Given the description of an element on the screen output the (x, y) to click on. 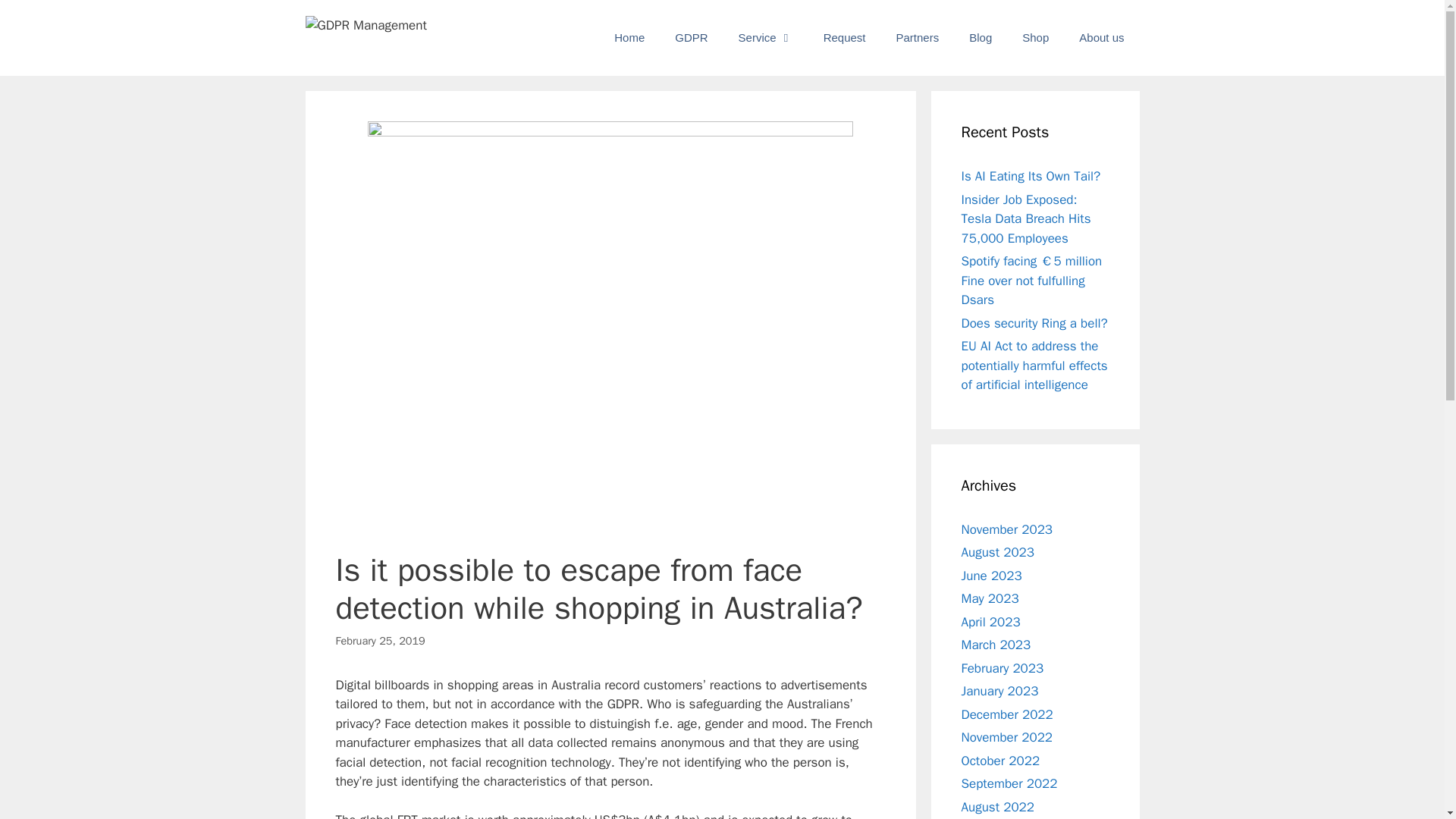
March 2023 (995, 644)
February 2023 (1001, 667)
Blog (980, 37)
April 2023 (990, 621)
August 2023 (996, 552)
Insider Job Exposed: Tesla Data Breach Hits 75,000 Employees (1025, 217)
October 2022 (1000, 760)
May 2023 (989, 598)
November 2022 (1006, 737)
